Given the description of an element on the screen output the (x, y) to click on. 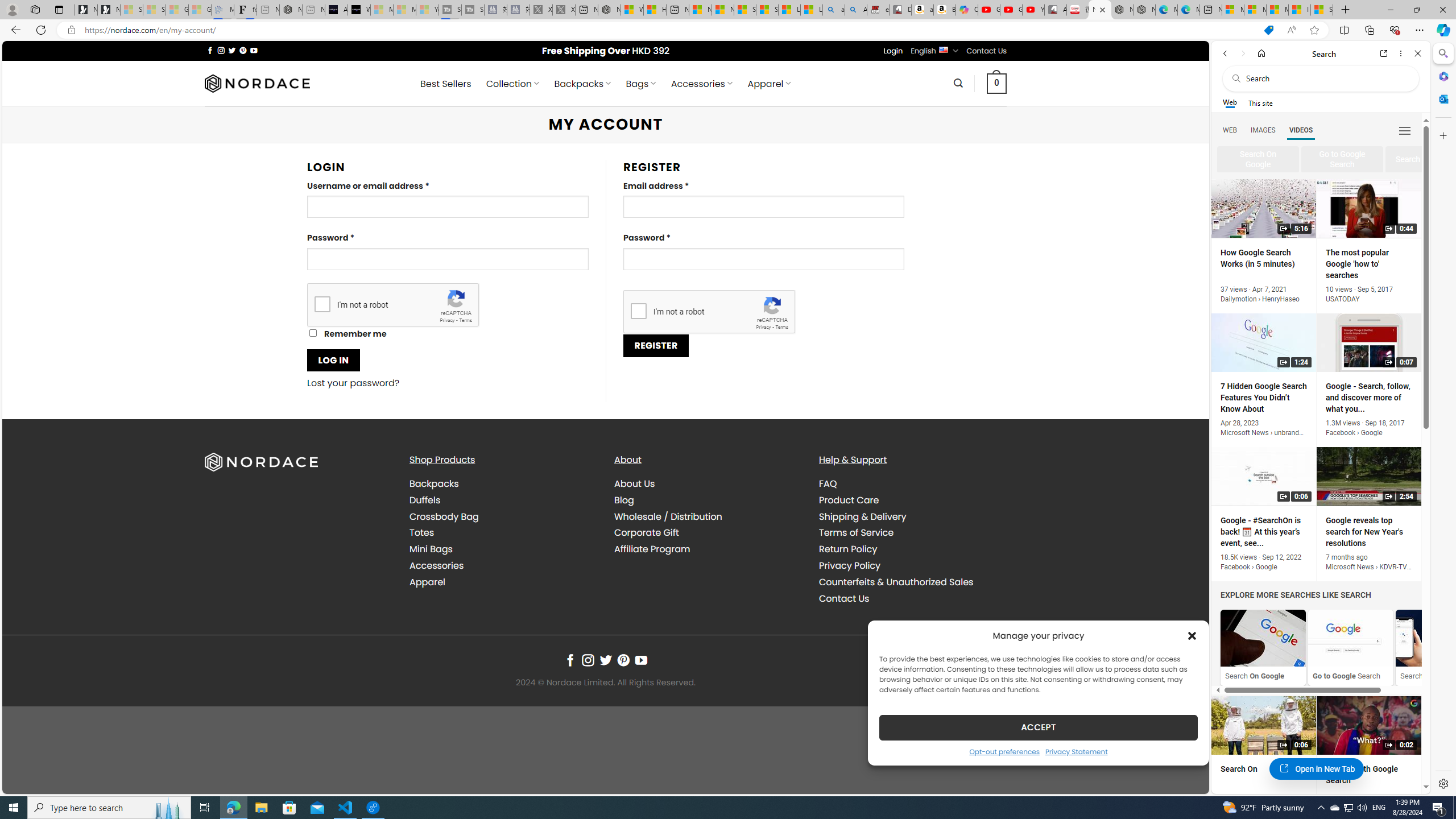
LOG IN (333, 359)
VIDEOS (1300, 129)
Huge shark washes ashore at New York City beach | Watch (655, 9)
Terms of Service (912, 532)
Mini Bags (430, 549)
Return Policy (912, 549)
  0   (996, 83)
Corporate Gift (708, 532)
Totes (421, 532)
Login (892, 50)
